Given the description of an element on the screen output the (x, y) to click on. 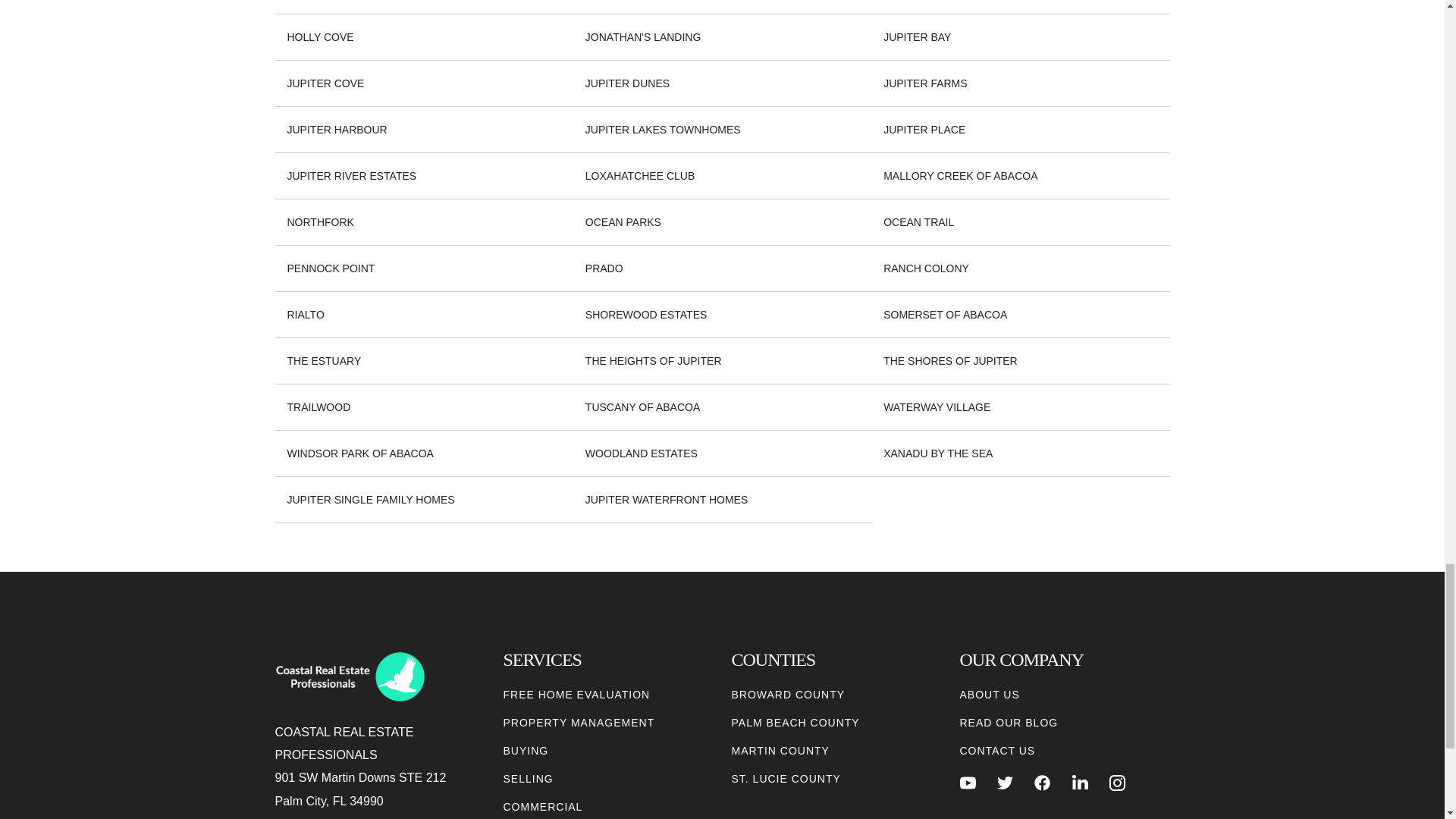
YOUTUBE (967, 782)
FACEBOOK (1041, 782)
LINKEDIN (1079, 782)
TWITTER (1005, 782)
